Given the description of an element on the screen output the (x, y) to click on. 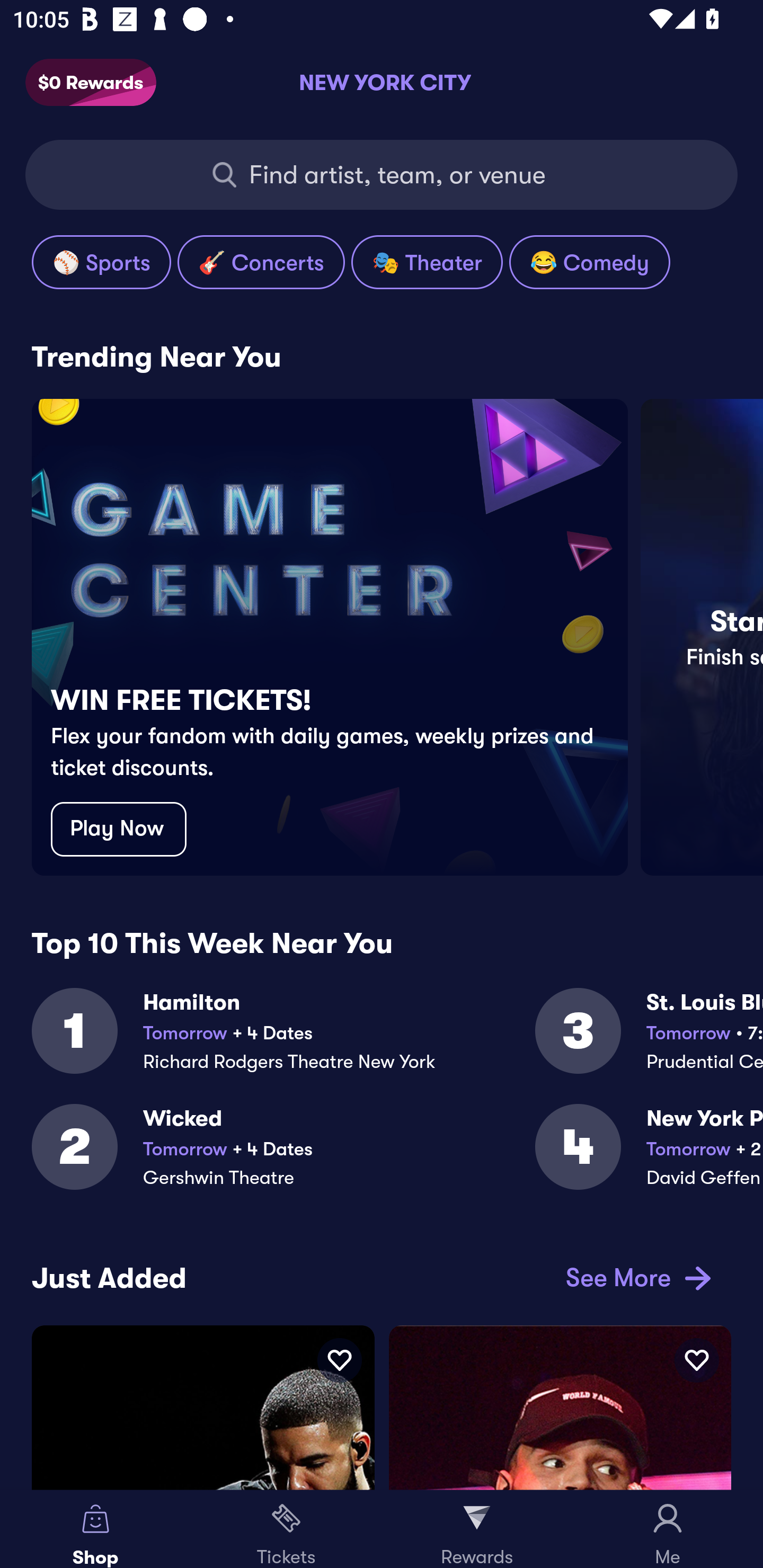
$0 Rewards (90, 82)
NEW YORK CITY (381, 81)
Find artist, team, or venue (381, 174)
⚾ Sports (101, 261)
🎸 Concerts (261, 261)
🎭 Theater (426, 261)
😂 Comedy (589, 261)
2 Wicked Tomorrow  + 4 Dates Gershwin Theatre (283, 1158)
See More (635, 1277)
icon button (339, 1359)
icon button (696, 1359)
Shop (95, 1529)
Tickets (285, 1529)
Rewards (476, 1529)
Me (667, 1529)
